Given the description of an element on the screen output the (x, y) to click on. 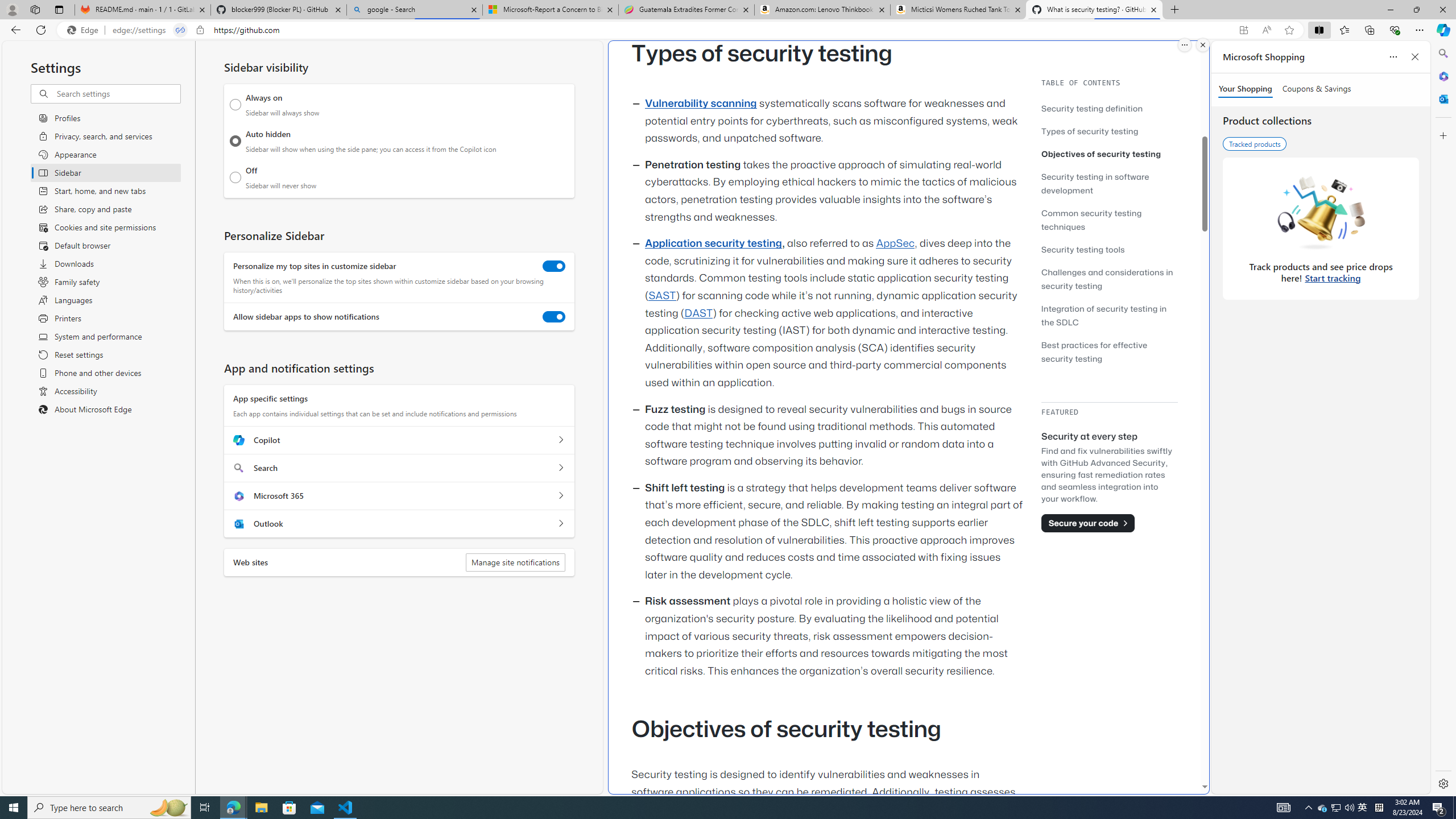
Security testing definition (1091, 108)
Integration of security testing in the SDLC (1104, 314)
Objectives of security testing (1101, 153)
DAST (698, 312)
Security testing in software development (1094, 182)
Manage site notifications (514, 562)
Security testing tools (1109, 249)
Personalize my top sites in customize sidebar (553, 265)
AppSec (895, 243)
